Given the description of an element on the screen output the (x, y) to click on. 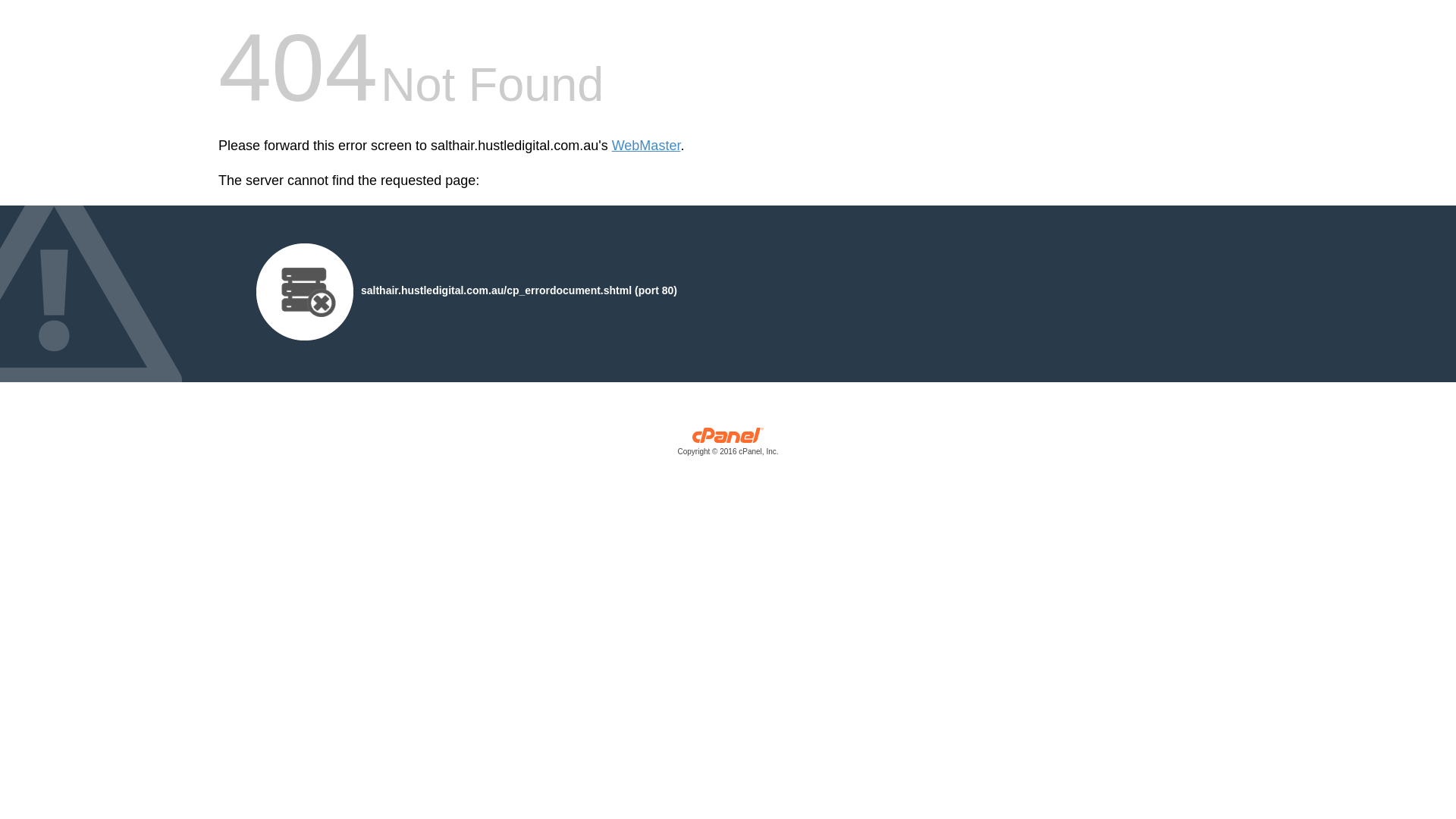
WebMaster Element type: text (645, 145)
